Given the description of an element on the screen output the (x, y) to click on. 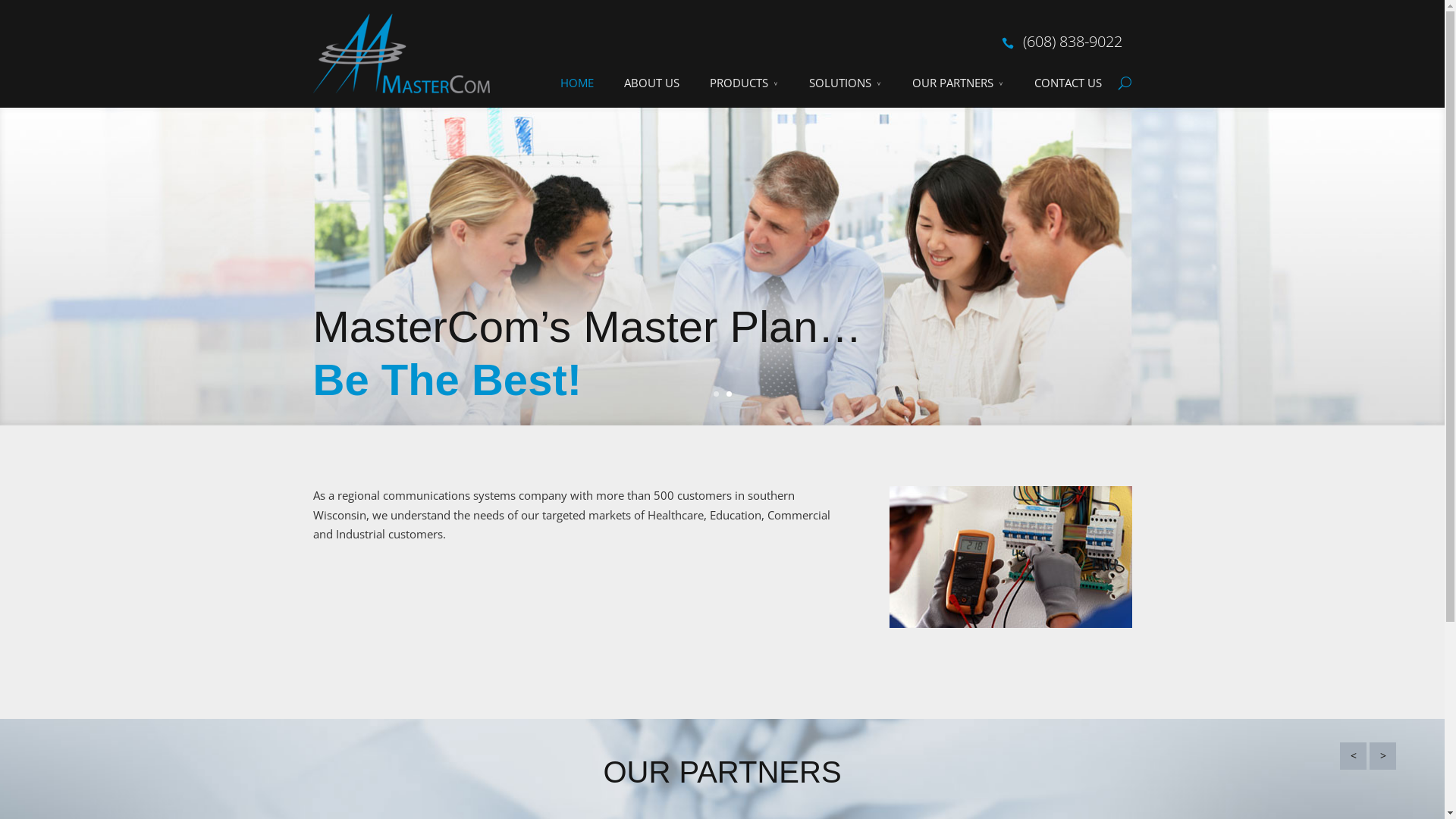
SOLUTIONS Element type: text (844, 82)
CONTACT US Element type: text (1067, 82)
1 Element type: text (715, 393)
2 Element type: text (728, 393)
HOME Element type: text (576, 82)
OUR PARTNERS Element type: text (957, 82)
(608) 838-9022 Element type: text (1071, 41)
PRODUCTS Element type: text (743, 82)
ABOUT US Element type: text (650, 82)
